Given the description of an element on the screen output the (x, y) to click on. 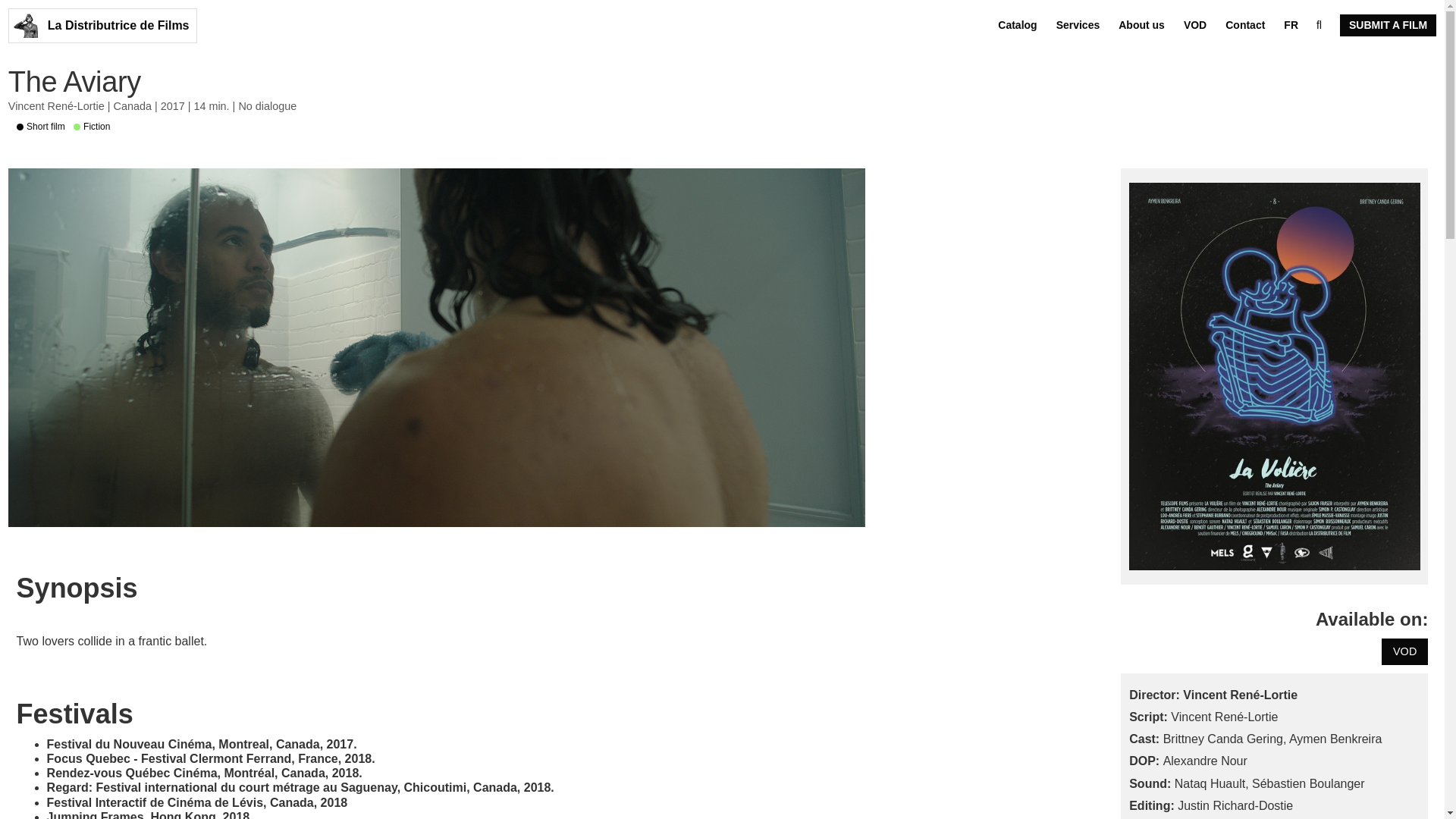
Catalog (1016, 25)
About us (1141, 25)
La Distributrice de Films (102, 25)
VOD (1194, 25)
SUBMIT A FILM (1387, 25)
Services (1077, 25)
FR (1291, 25)
Contact (1244, 25)
